Given the description of an element on the screen output the (x, y) to click on. 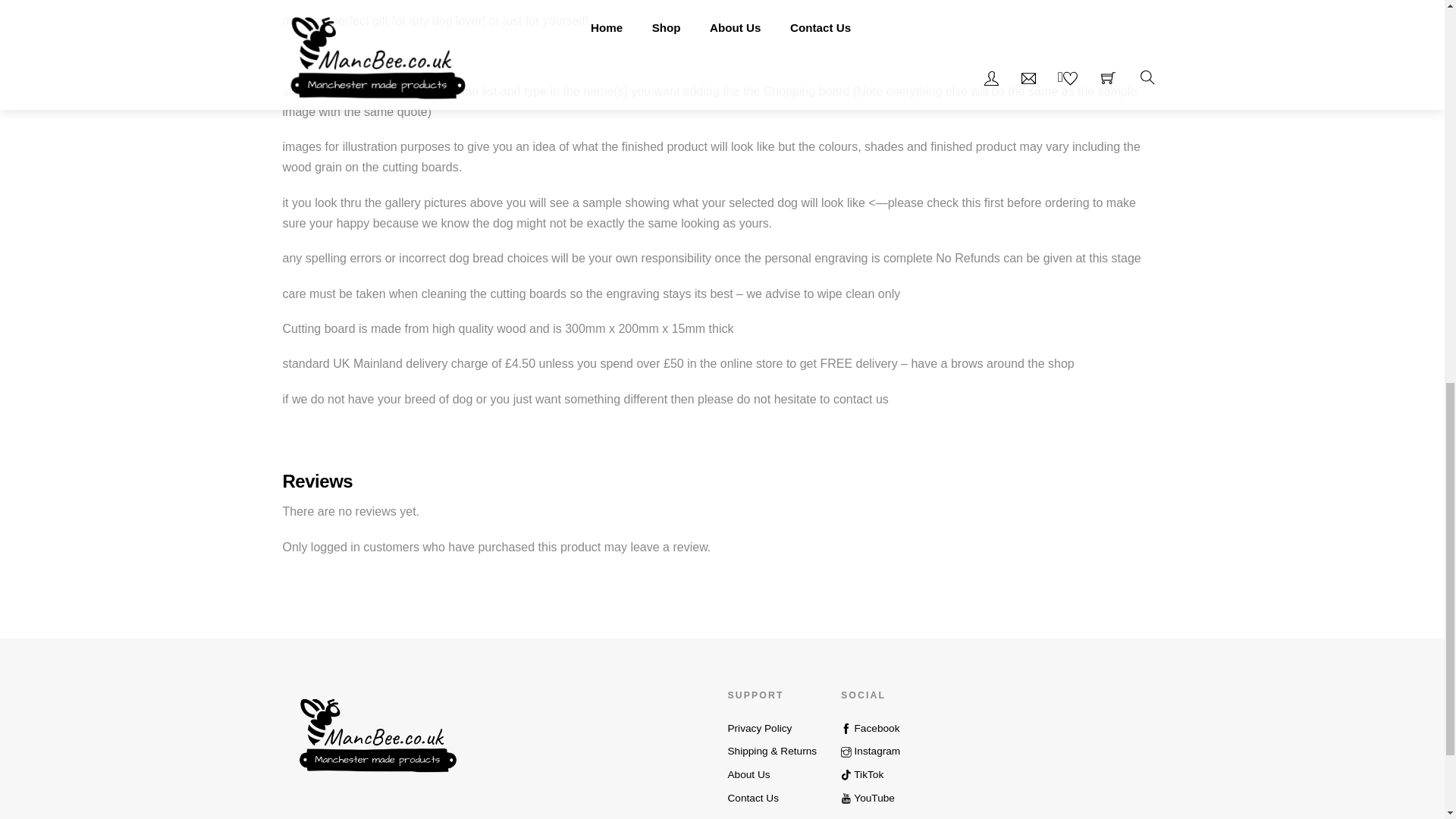
Contact Us (752, 797)
About Us (748, 774)
Privacy Policy (759, 727)
